Given the description of an element on the screen output the (x, y) to click on. 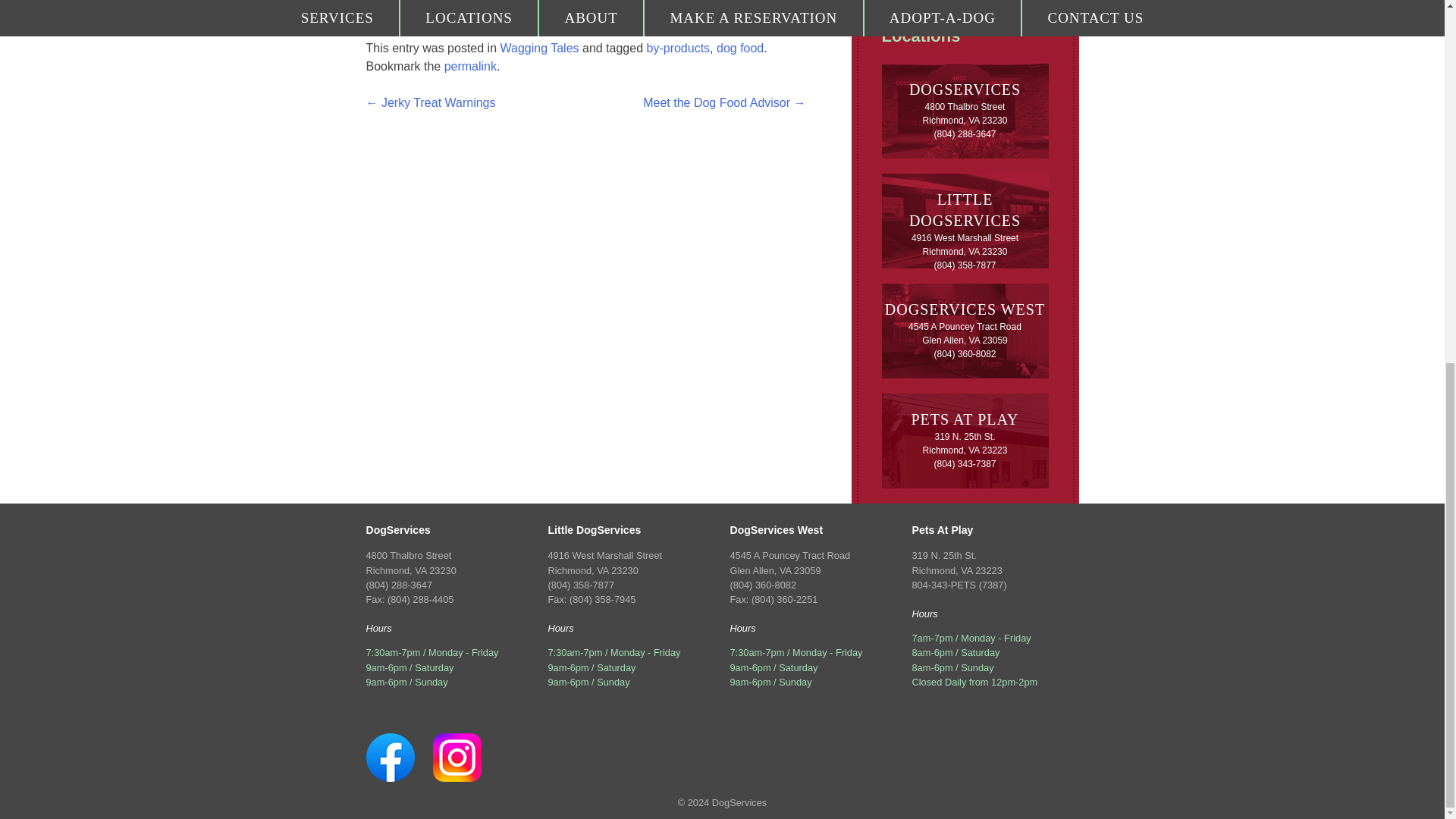
Wagging Tales (538, 47)
permalink (470, 65)
dog food (739, 47)
by-products (678, 47)
